Given the description of an element on the screen output the (x, y) to click on. 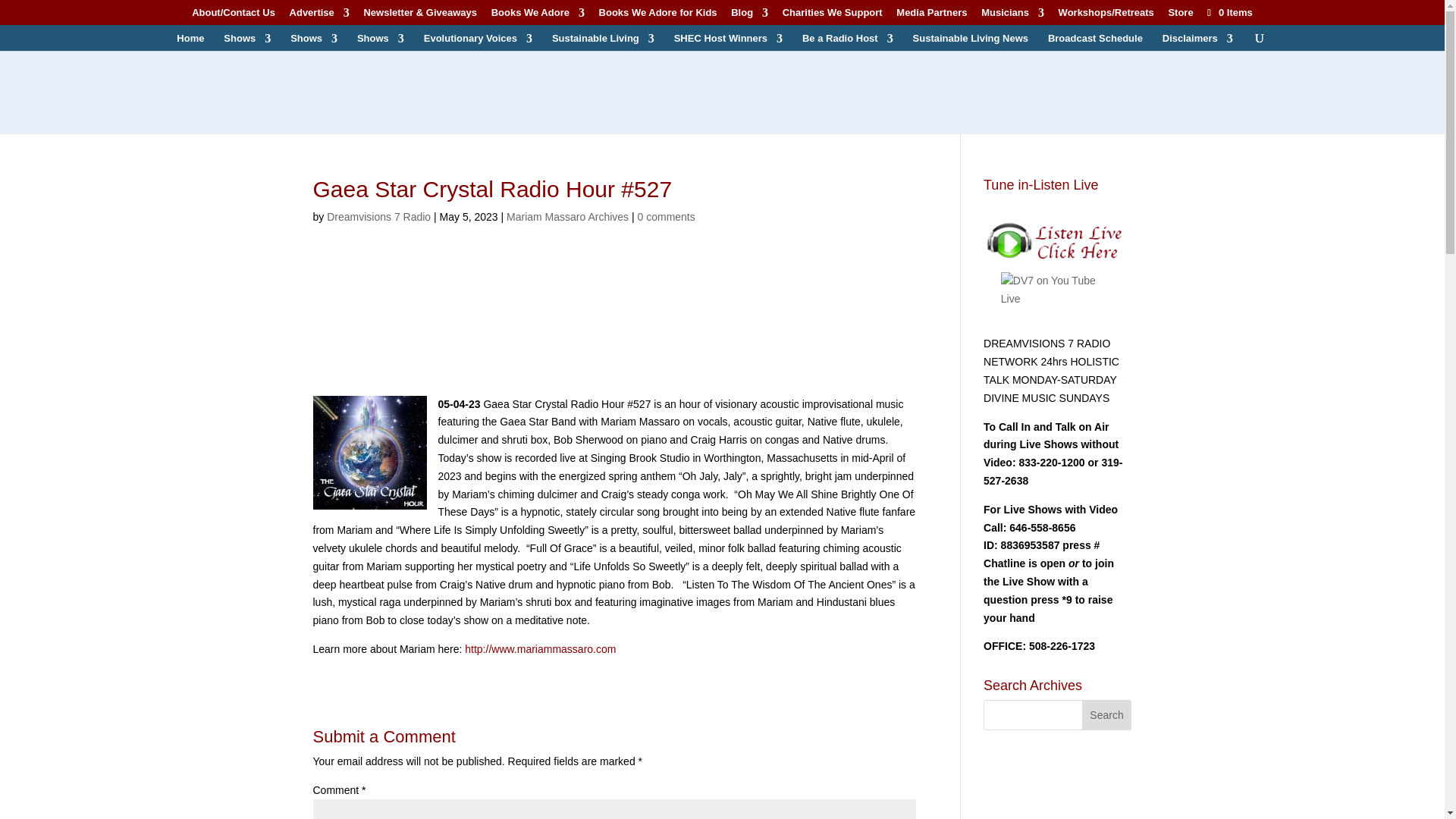
Blog (749, 16)
0 Items (1228, 12)
Search (1106, 715)
Media Partners (931, 16)
Advertise (319, 16)
Store (1179, 16)
Gaea Star Crystal Radio Hour with Mariam Massaro (614, 322)
Posts by Dreamvisions 7 Radio (378, 216)
Home (189, 41)
Books We Adore (538, 16)
